Given the description of an element on the screen output the (x, y) to click on. 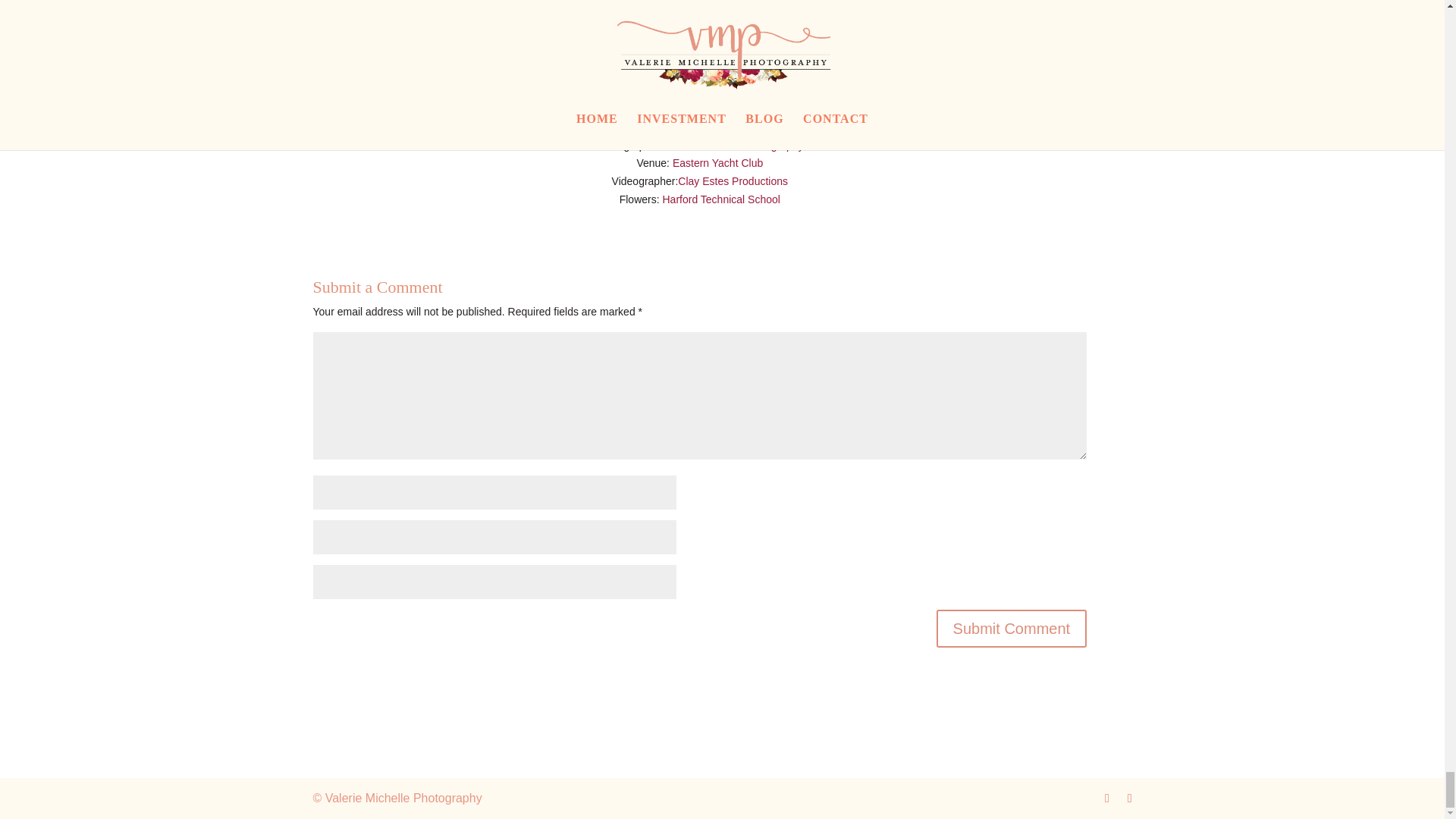
Submit Comment (1011, 628)
Submit Comment (1011, 628)
Valerie Michelle Photography (734, 145)
Eastern Yacht Club (717, 162)
Clay Estes Productions (732, 181)
Harford Technical School (721, 199)
